Given the description of an element on the screen output the (x, y) to click on. 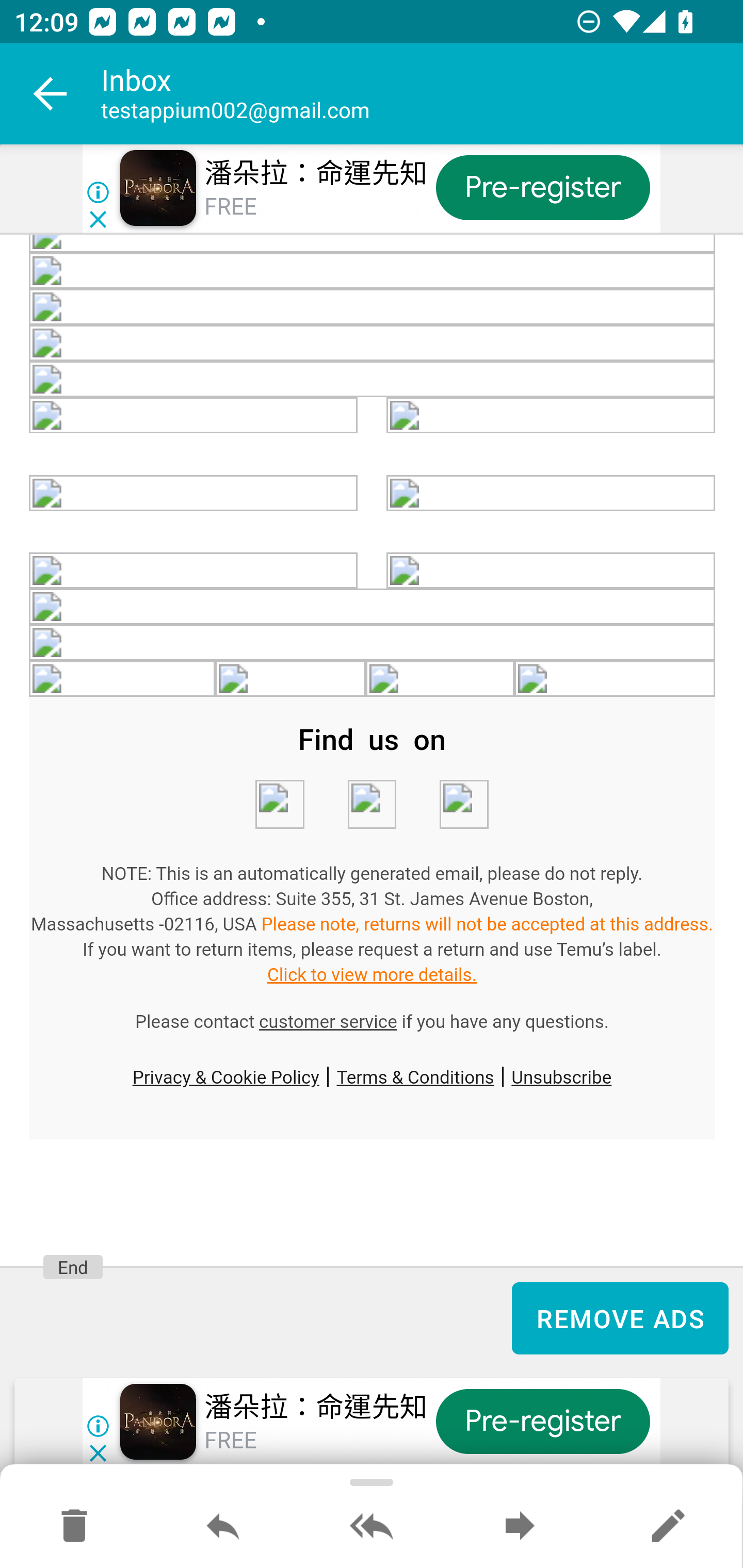
Navigate up (50, 93)
Inbox testappium002@gmail.com (422, 93)
潘朵拉：命運先知 (316, 173)
Pre-register (542, 187)
data: (372, 244)
data: (372, 271)
data: (372, 307)
data: (372, 342)
data: (372, 378)
data: (193, 414)
data: (551, 414)
data: (193, 492)
data: (551, 492)
data: (193, 570)
data: (551, 570)
data: (372, 606)
data: (372, 642)
data: (122, 678)
data: (289, 678)
data: (440, 678)
data: (614, 678)
data: (279, 805)
data: (371, 805)
data: (463, 805)
Click to view more details. (372, 975)
customer service (327, 1022)
Privacy & Cookie Policy (225, 1076)
Terms & Conditions (414, 1076)
Unsubscribe (561, 1076)
REMOVE ADS (619, 1318)
潘朵拉：命運先知 (316, 1407)
Pre-register (542, 1421)
Move to Deleted (74, 1527)
Reply (222, 1527)
Reply all (371, 1527)
Forward (519, 1527)
Reply as new (667, 1527)
